Given the description of an element on the screen output the (x, y) to click on. 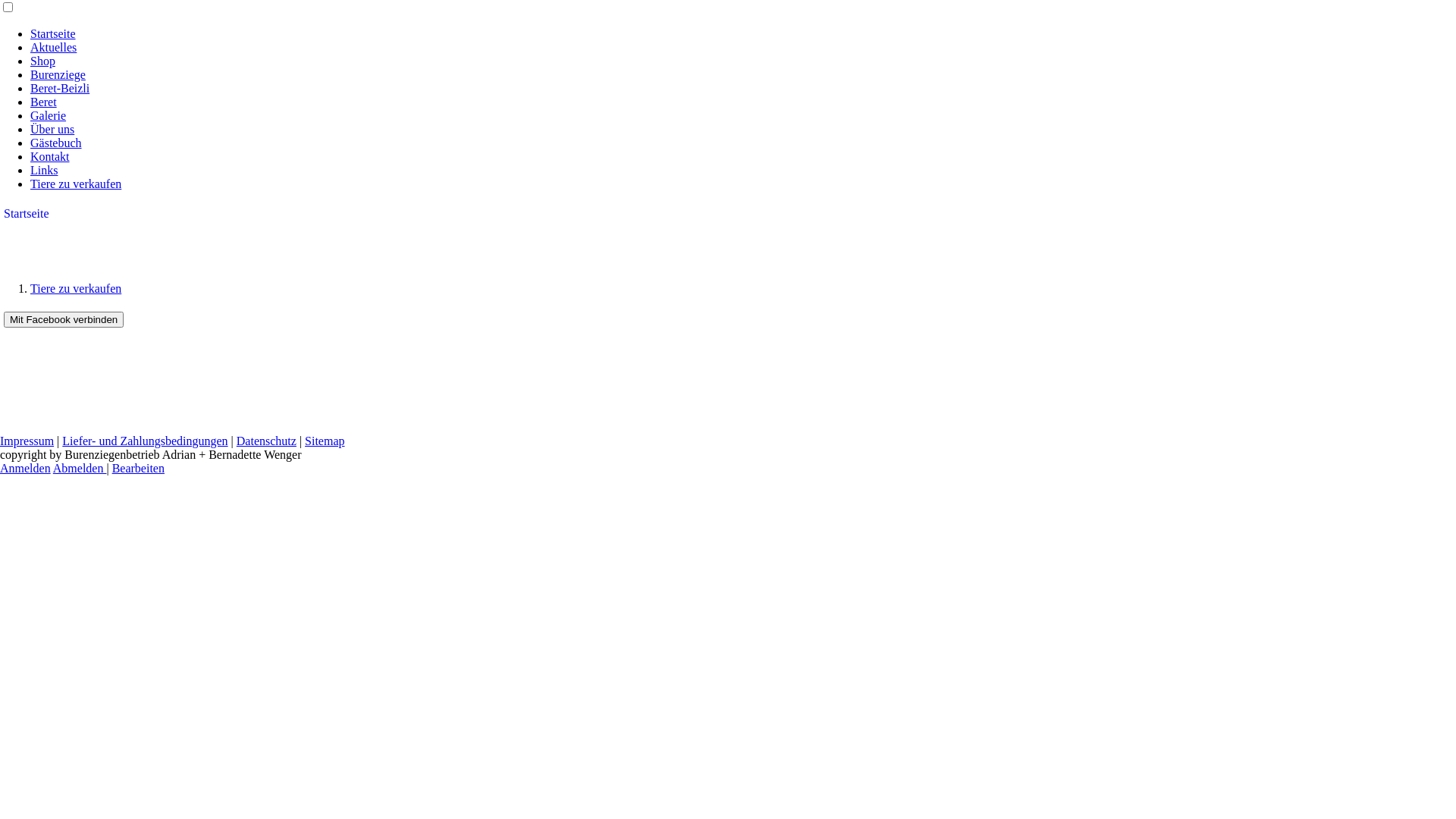
Beret-Beizli Element type: text (59, 87)
Bearbeiten Element type: text (138, 467)
Links Element type: text (43, 169)
Datenschutz Element type: text (266, 440)
Shop Element type: text (42, 60)
Kontakt Element type: text (49, 156)
Abmelden Element type: text (79, 467)
Tiere zu verkaufen Element type: text (75, 288)
Burenziege Element type: text (57, 74)
Startseite Element type: text (26, 213)
Galerie Element type: text (47, 115)
Tiere zu verkaufen Element type: text (75, 183)
Liefer- und Zahlungsbedingungen Element type: text (144, 440)
Aktuelles Element type: text (53, 46)
Sitemap Element type: text (324, 440)
Beret Element type: text (43, 101)
Startseite Element type: text (52, 33)
Impressum Element type: text (26, 440)
Mit Facebook verbinden Element type: text (63, 319)
Anmelden Element type: text (25, 467)
